Given the description of an element on the screen output the (x, y) to click on. 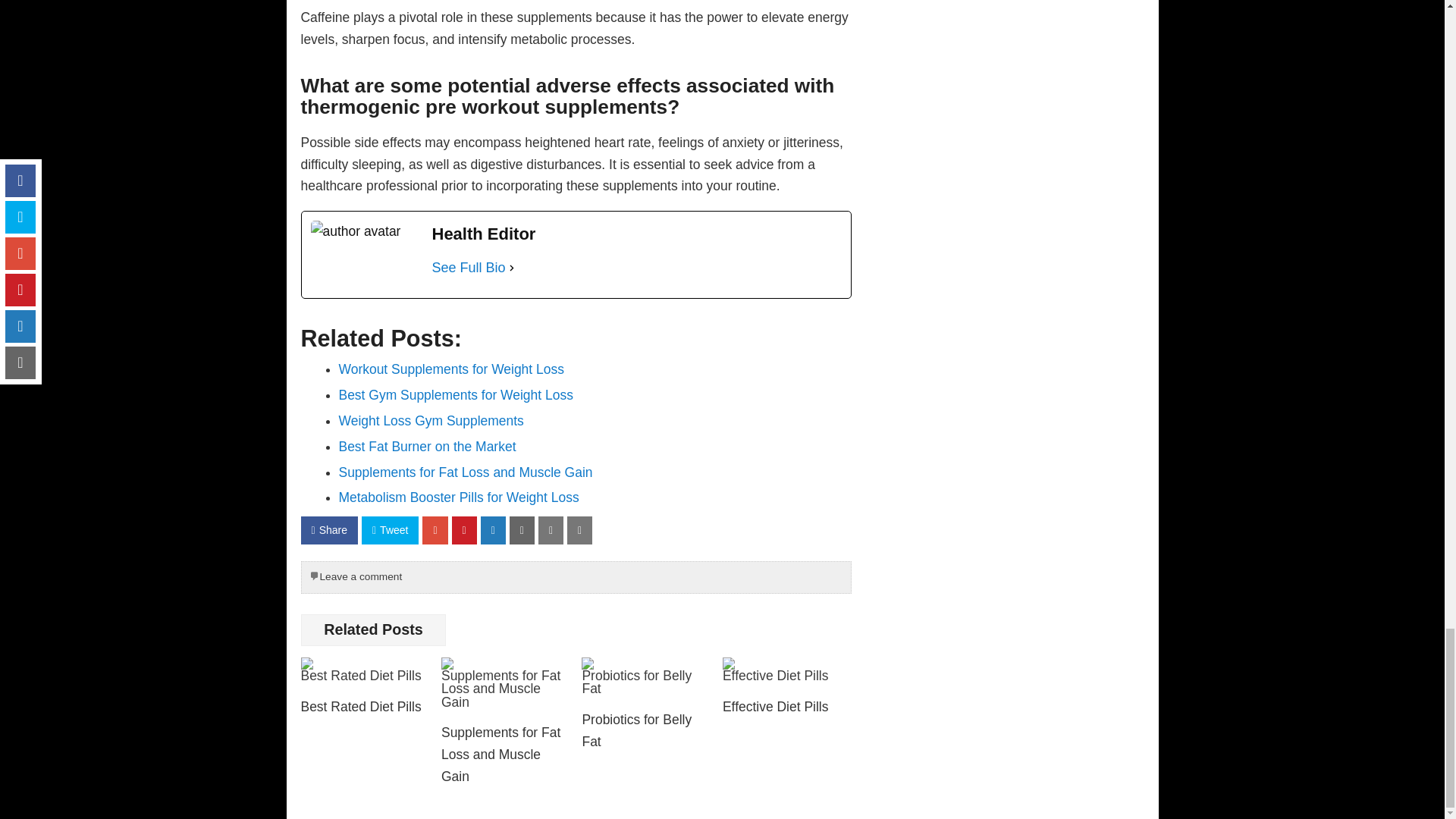
Tweet on Twitter (390, 530)
Share On Linkedin (492, 530)
Share On Google Plus (434, 530)
Share On Facebook (327, 530)
Send email this article (521, 530)
Pin On Pinterest (464, 530)
